Given the description of an element on the screen output the (x, y) to click on. 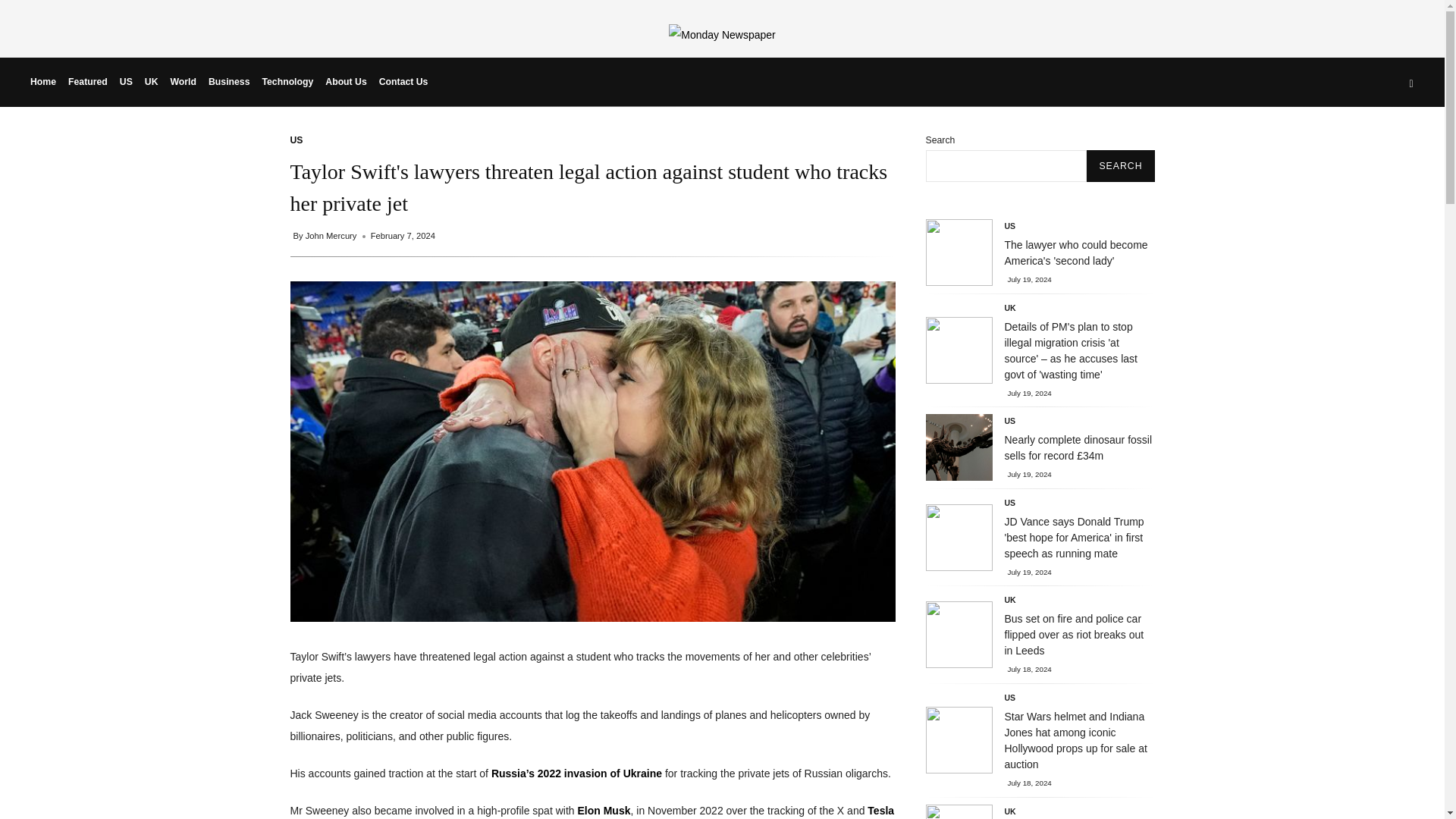
Technology (287, 81)
US (295, 140)
John Mercury (332, 234)
Business (229, 81)
About Us (345, 81)
Elon Musk (603, 810)
Monday Newspaper (722, 34)
Featured (87, 81)
Contact Us (402, 81)
John Mercury (332, 234)
Tesla (880, 810)
